Given the description of an element on the screen output the (x, y) to click on. 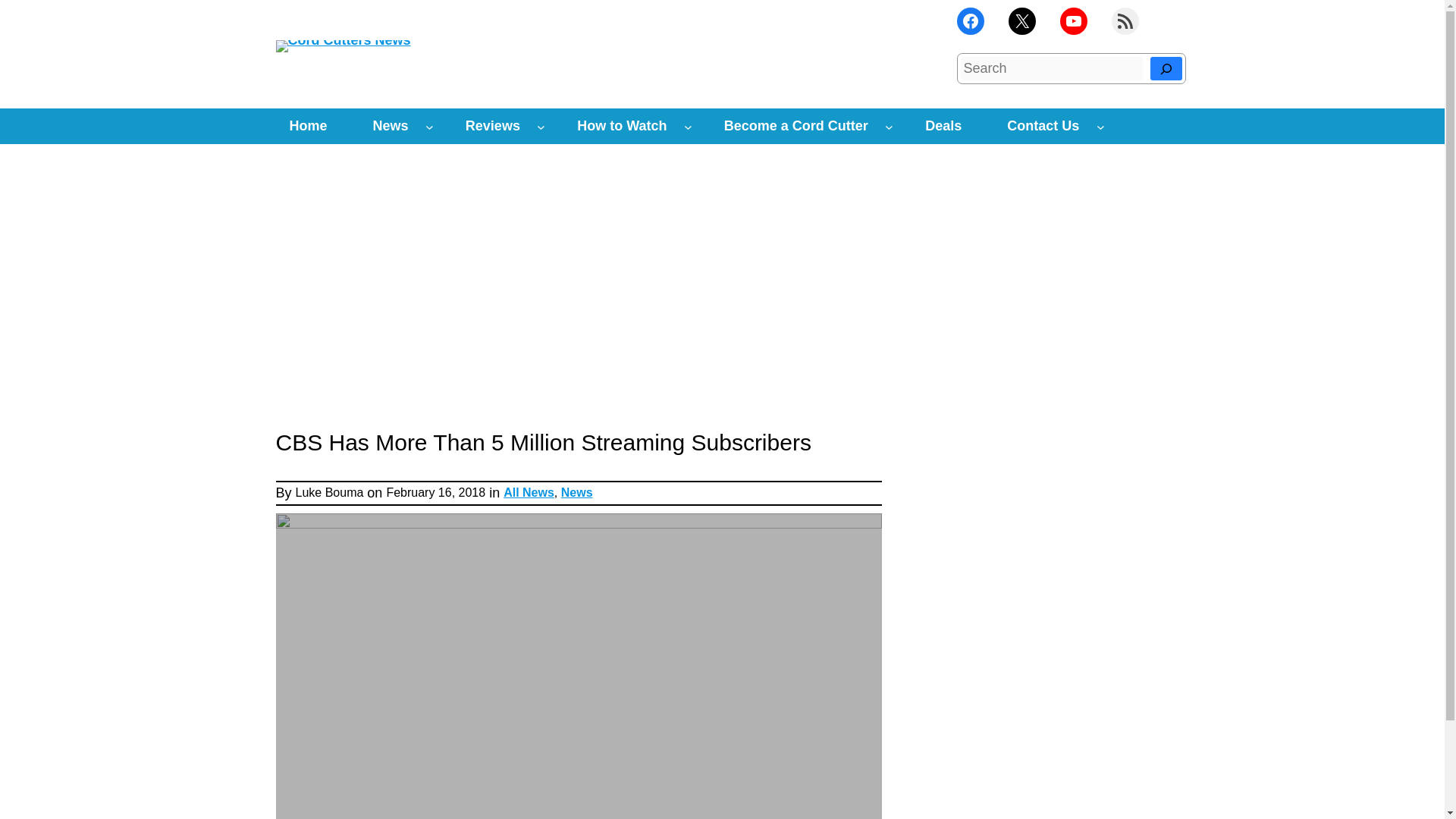
YouTube (1073, 21)
Facebook (970, 21)
RSS Feed (1125, 21)
Reviews (492, 126)
News (390, 126)
X (1022, 21)
Home (308, 126)
